Given the description of an element on the screen output the (x, y) to click on. 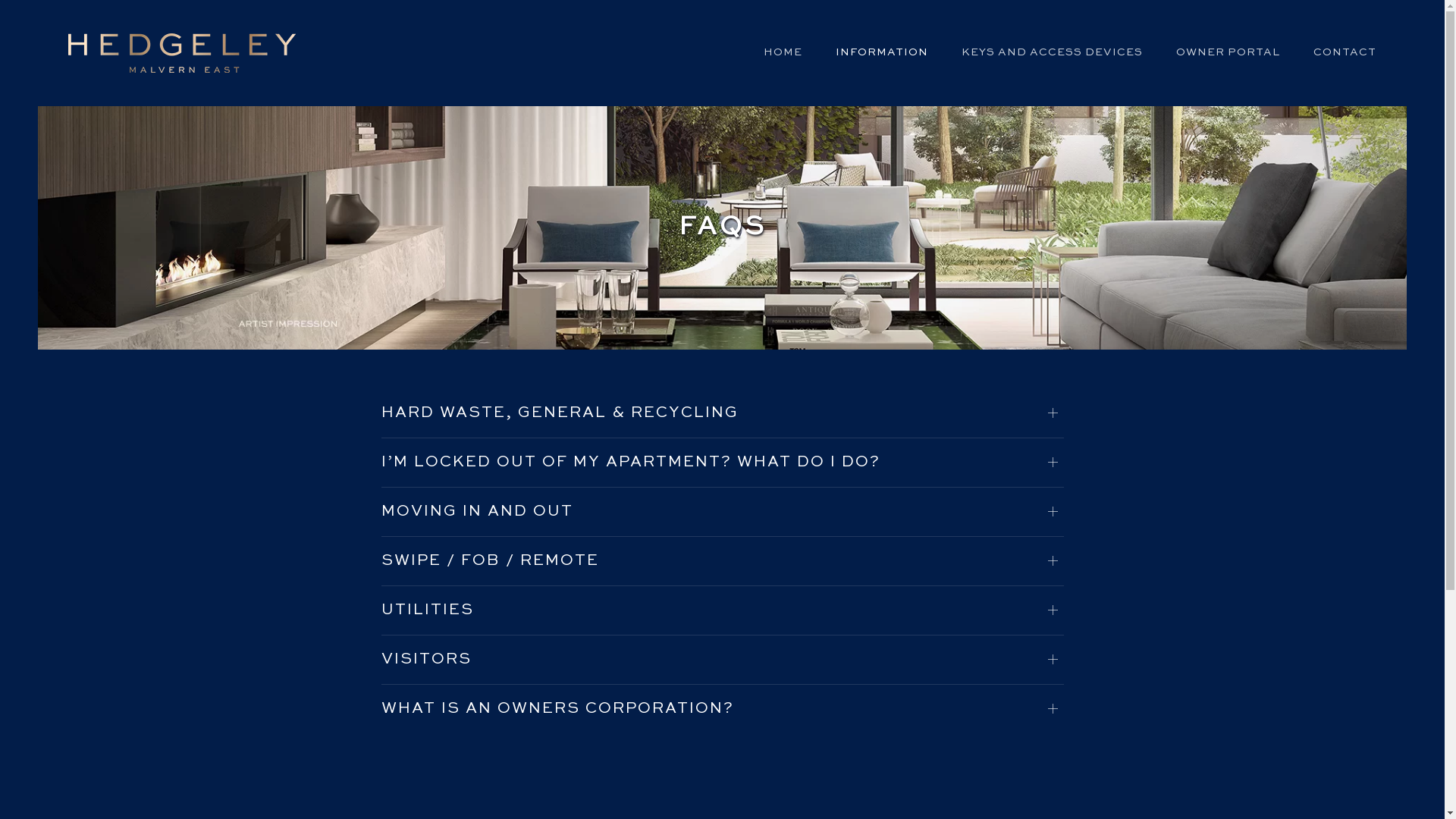
HOME Element type: text (782, 53)
OWNER PORTAL Element type: text (1227, 53)
HARD WASTE, GENERAL & RECYCLING Element type: text (721, 412)
WHAT IS AN OWNERS CORPORATION? Element type: text (721, 708)
MOVING IN AND OUT Element type: text (721, 511)
CONTACT Element type: text (1344, 53)
SWIPE / FOB / REMOTE Element type: text (721, 560)
UTILITIES Element type: text (721, 610)
KEYS AND ACCESS DEVICES Element type: text (1051, 53)
INFORMATION Element type: text (881, 53)
VISITORS Element type: text (721, 659)
